Given the description of an element on the screen output the (x, y) to click on. 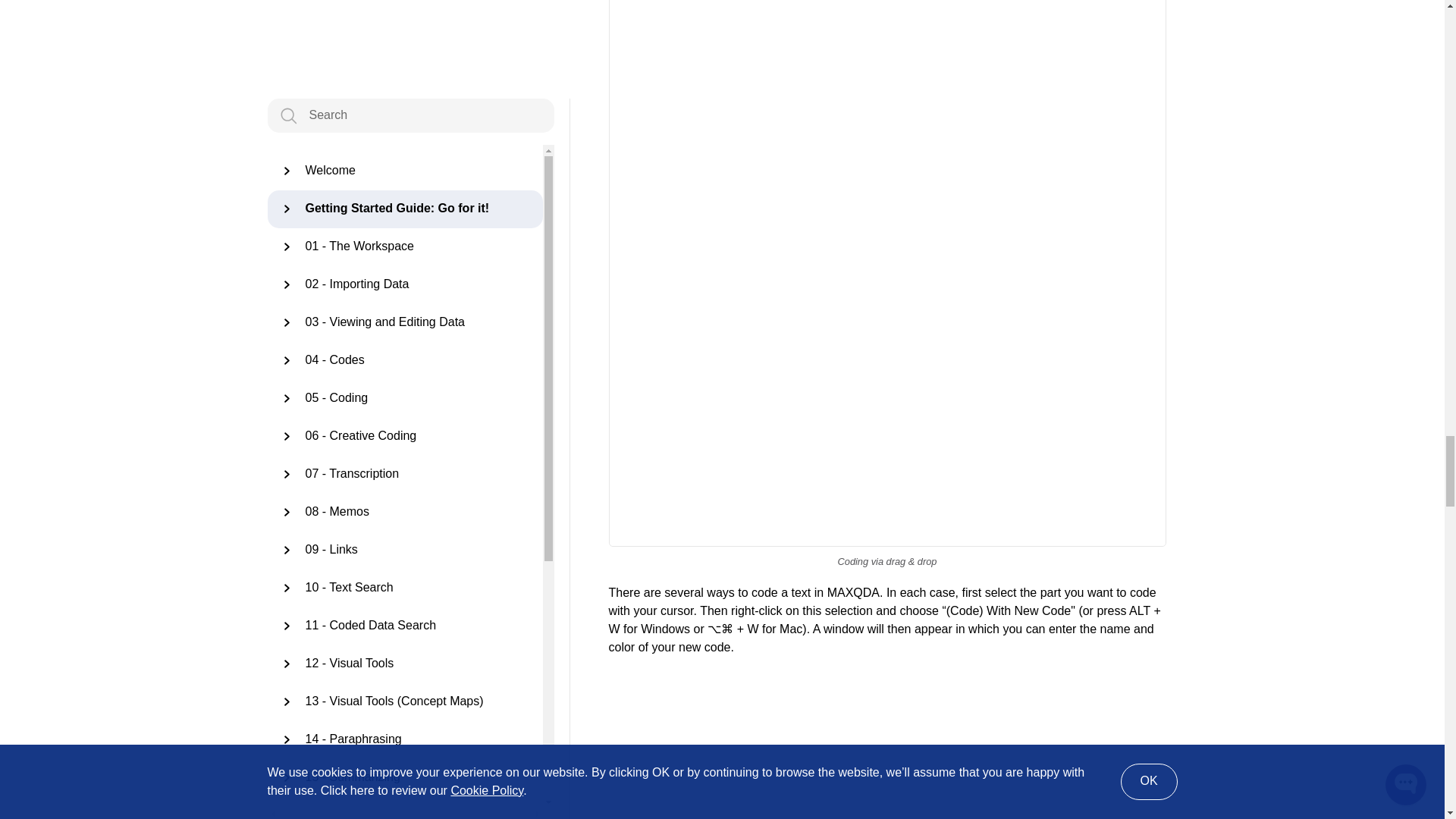
This window will appear when you add a new code (887, 743)
